Given the description of an element on the screen output the (x, y) to click on. 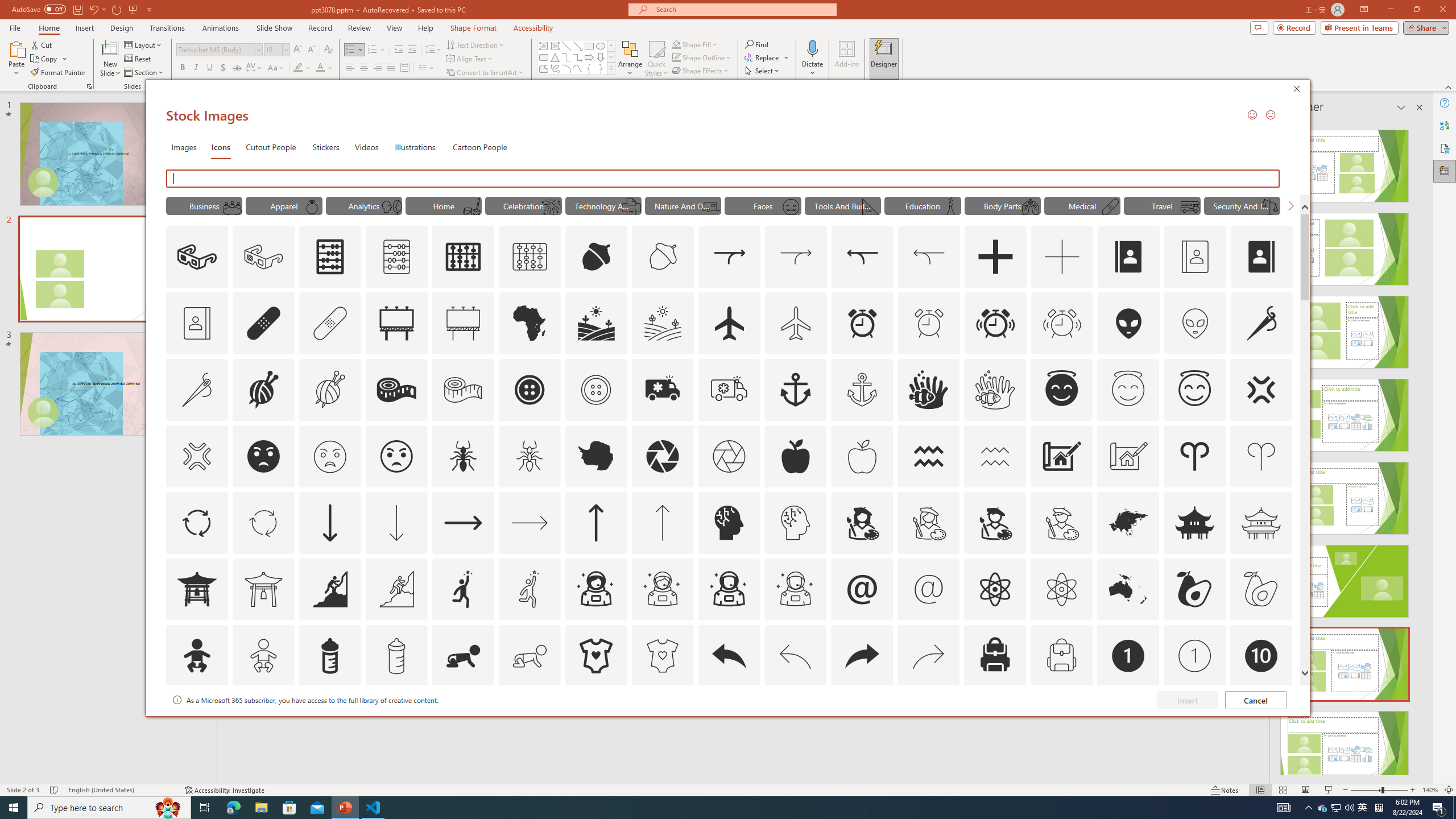
Microsoft Edge (233, 807)
"Security And Justice" Icons. (1241, 205)
AutomationID: Icons_Acquisition_RTL_M (928, 256)
AutomationID: Icons_Airplane_M (796, 323)
Line (566, 45)
AutomationID: Icons_AlienFace_M (1194, 323)
AutomationID: Icons_AnemoneAndClownfish (928, 389)
